Given the description of an element on the screen output the (x, y) to click on. 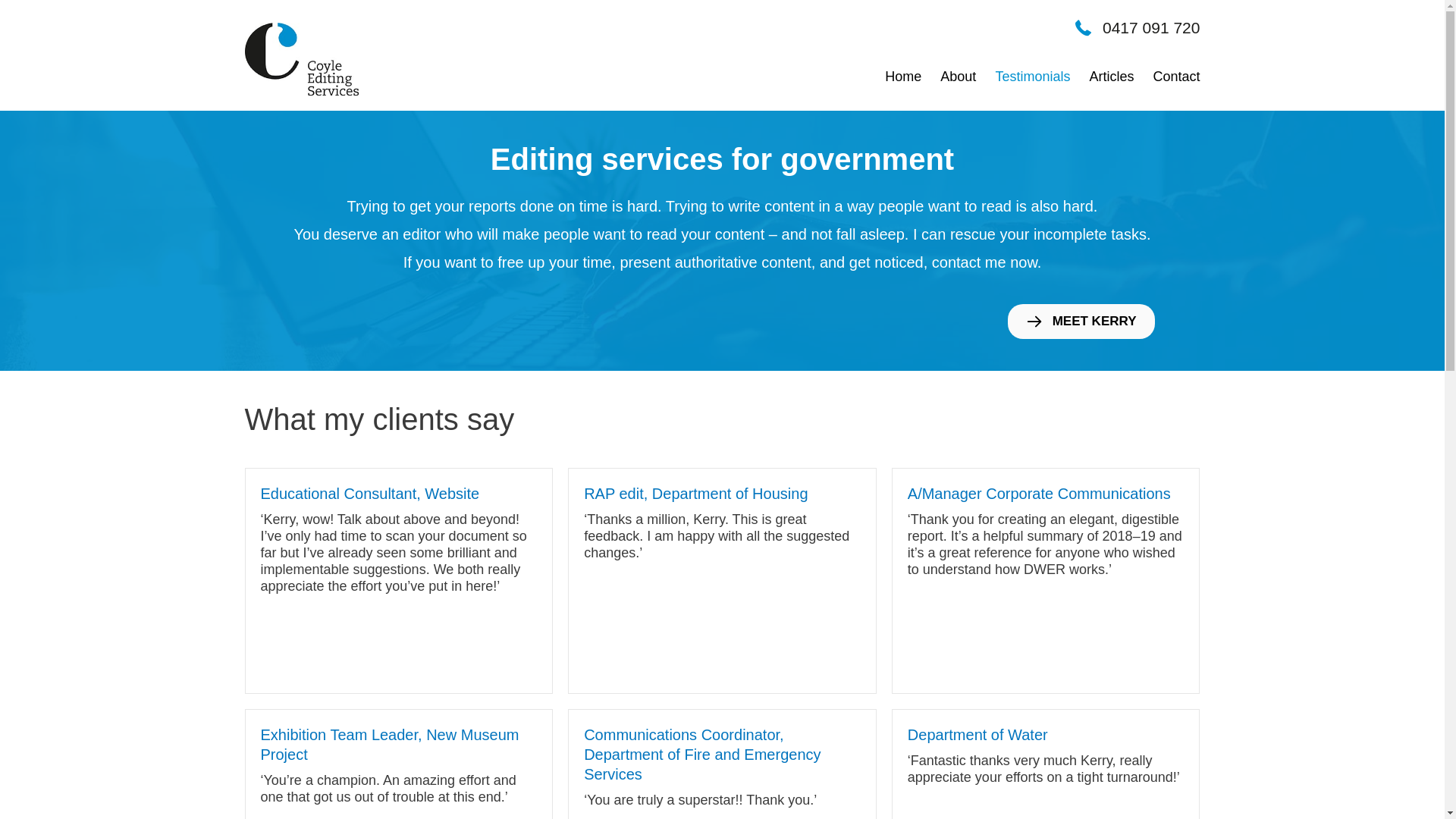
0417 091 720 Element type: text (1150, 28)
Contact Element type: text (1174, 76)
Exhibition Team Leader, New Museum Project Element type: text (389, 744)
Educational Consultant, Website Element type: text (370, 493)
coyle logo Element type: hover (301, 58)
RAP edit, Department of Housing Element type: text (695, 493)
Department of Water Element type: text (977, 734)
A/Manager Corporate Communications Element type: text (1038, 493)
MEET KERRY Element type: text (1080, 321)
About Element type: text (956, 76)
Home Element type: text (901, 76)
Articles Element type: text (1109, 76)
Testimonials Element type: text (1030, 76)
